Given the description of an element on the screen output the (x, y) to click on. 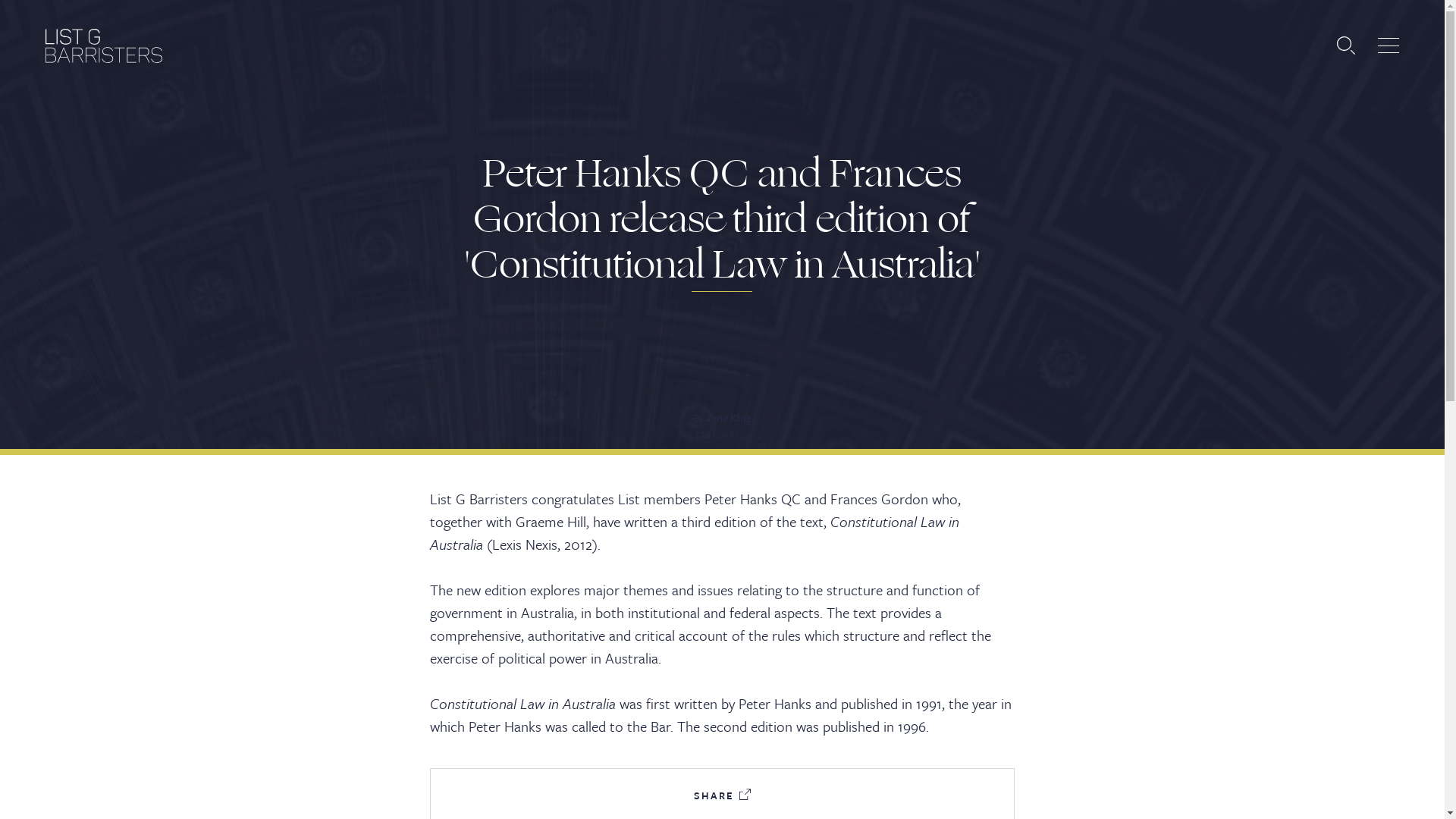
Disclaimer Element type: text (125, 774)
Clerks Element type: text (600, 316)
JOIN THE LIST Element type: text (1005, 322)
Privacy Policy Element type: text (52, 774)
PUBLICATIONS Element type: text (1005, 400)
BARRISTER LOGIN Element type: text (1005, 439)
Barristers Element type: text (600, 221)
ABOUT US Element type: text (1005, 284)
Jane King Element type: text (728, 417)
Services Element type: text (600, 411)
Contact Element type: text (600, 505)
NEWS & EVENTS Element type: text (1005, 362)
